Given the description of an element on the screen output the (x, y) to click on. 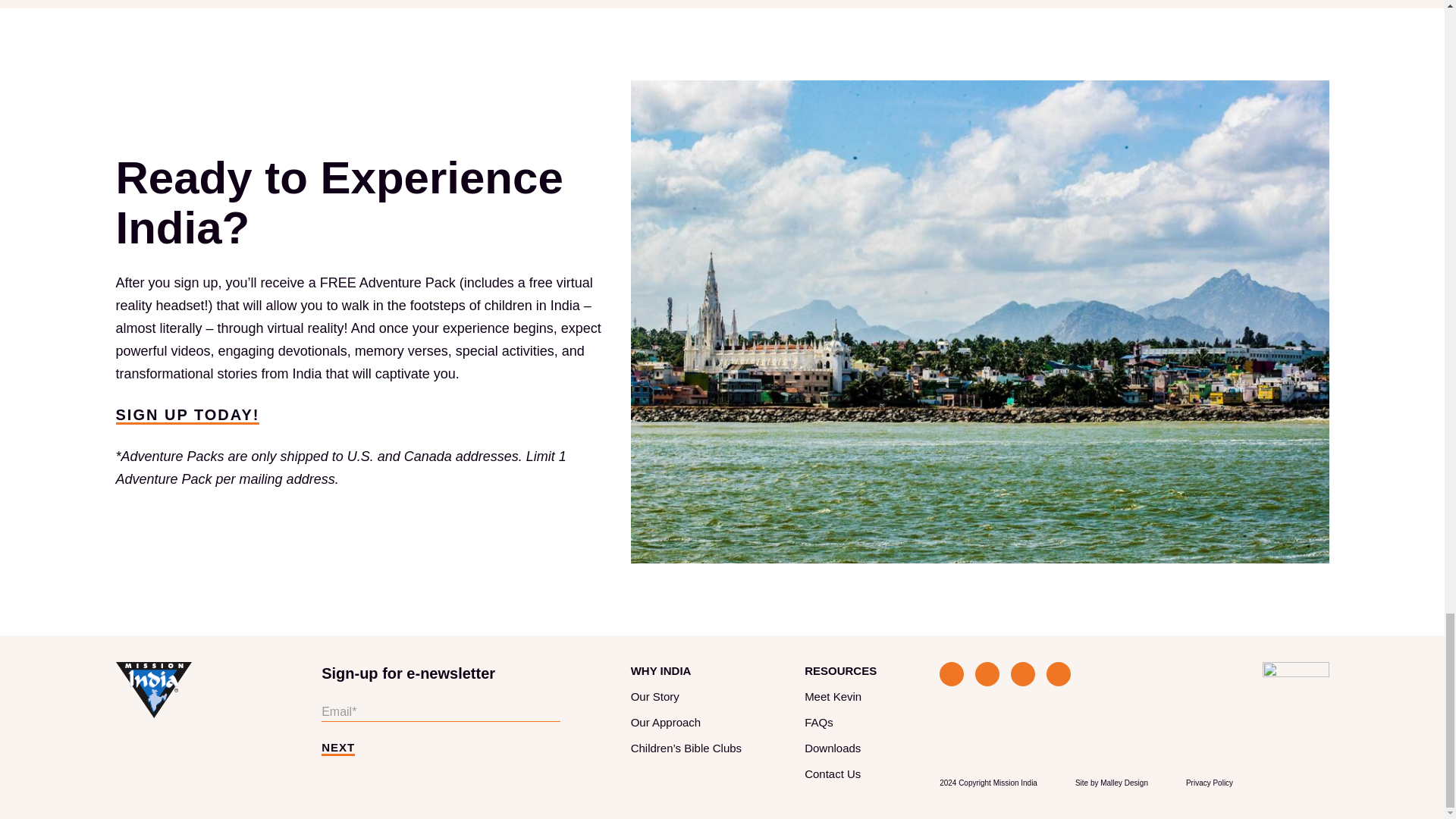
Downloads (832, 748)
SIGN UP TODAY! (187, 416)
NEXT (338, 749)
Meet Kevin (833, 696)
Mission India (152, 690)
FAQs (818, 721)
Our Approach (665, 721)
RESOURCES (840, 670)
WHY INDIA (660, 670)
Our Story (654, 696)
Contact Us (832, 773)
